Given the description of an element on the screen output the (x, y) to click on. 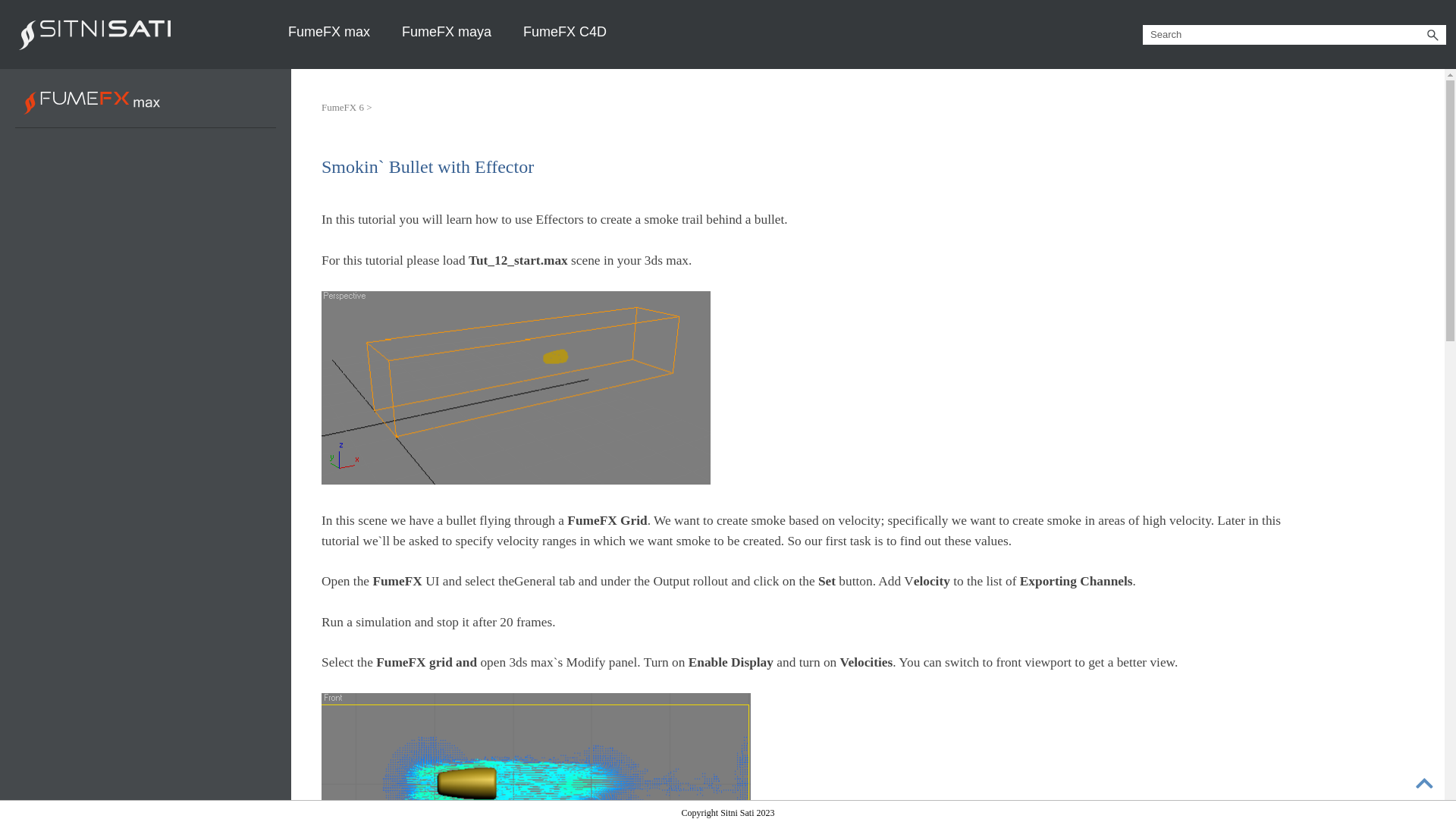
FumeFX C4D (564, 31)
FumeFX maya (446, 31)
Search (1431, 34)
FumeFX max (328, 31)
